Given the description of an element on the screen output the (x, y) to click on. 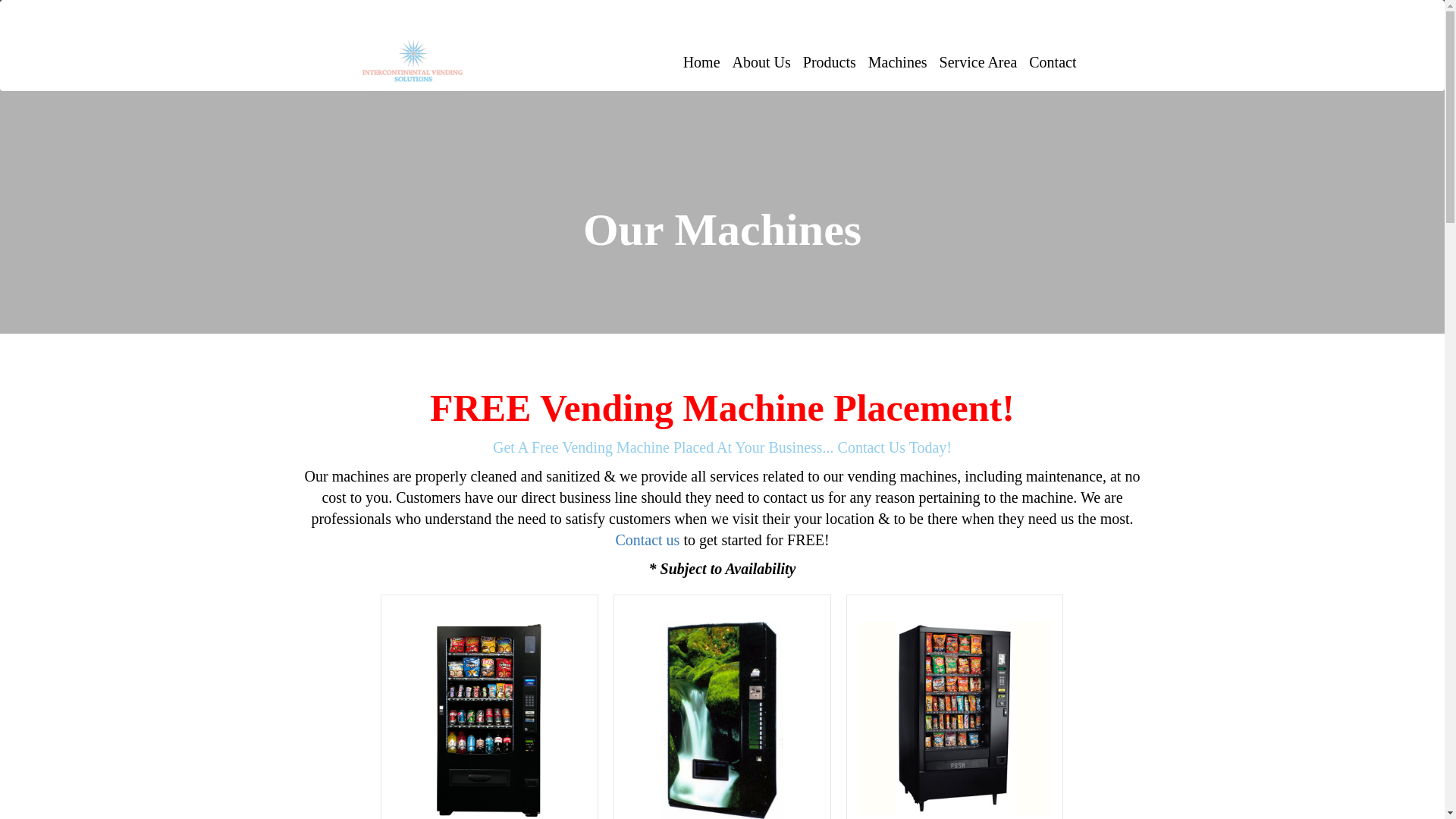
Contact (1052, 62)
Products (828, 62)
Machines (897, 62)
Contact us (646, 539)
Service Area (978, 62)
Service Area (978, 62)
Home (701, 62)
Home (701, 62)
Products (828, 62)
About Us (761, 62)
